Given the description of an element on the screen output the (x, y) to click on. 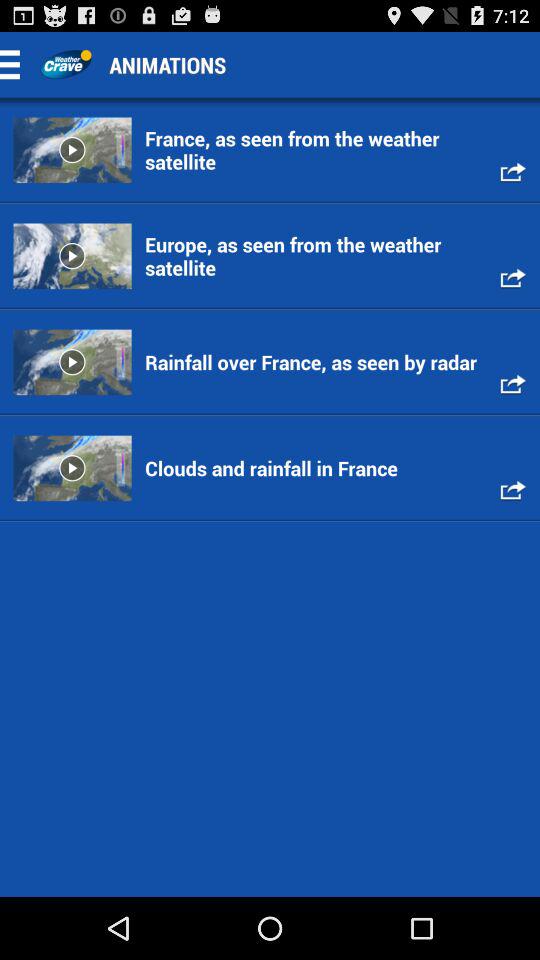
access app menu (16, 63)
